Given the description of an element on the screen output the (x, y) to click on. 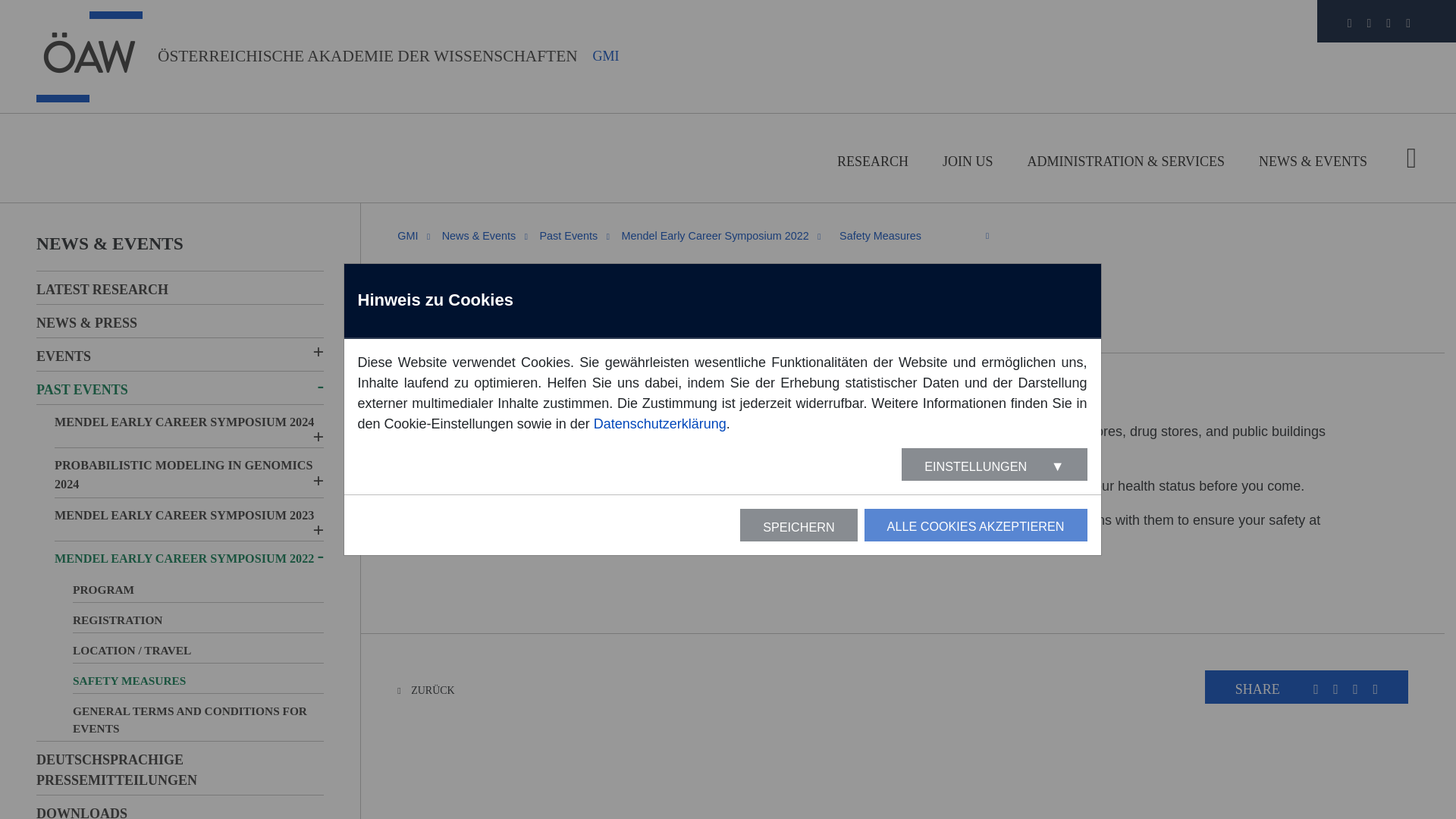
LATEST RESEARCH (179, 289)
Mendel Early Career Symposium 2022 (715, 235)
GMI (606, 55)
GMI (407, 235)
zur Seite: Program (904, 260)
Past Events (569, 235)
Sie befinden sich auf dieser Seite (904, 235)
